Given the description of an element on the screen output the (x, y) to click on. 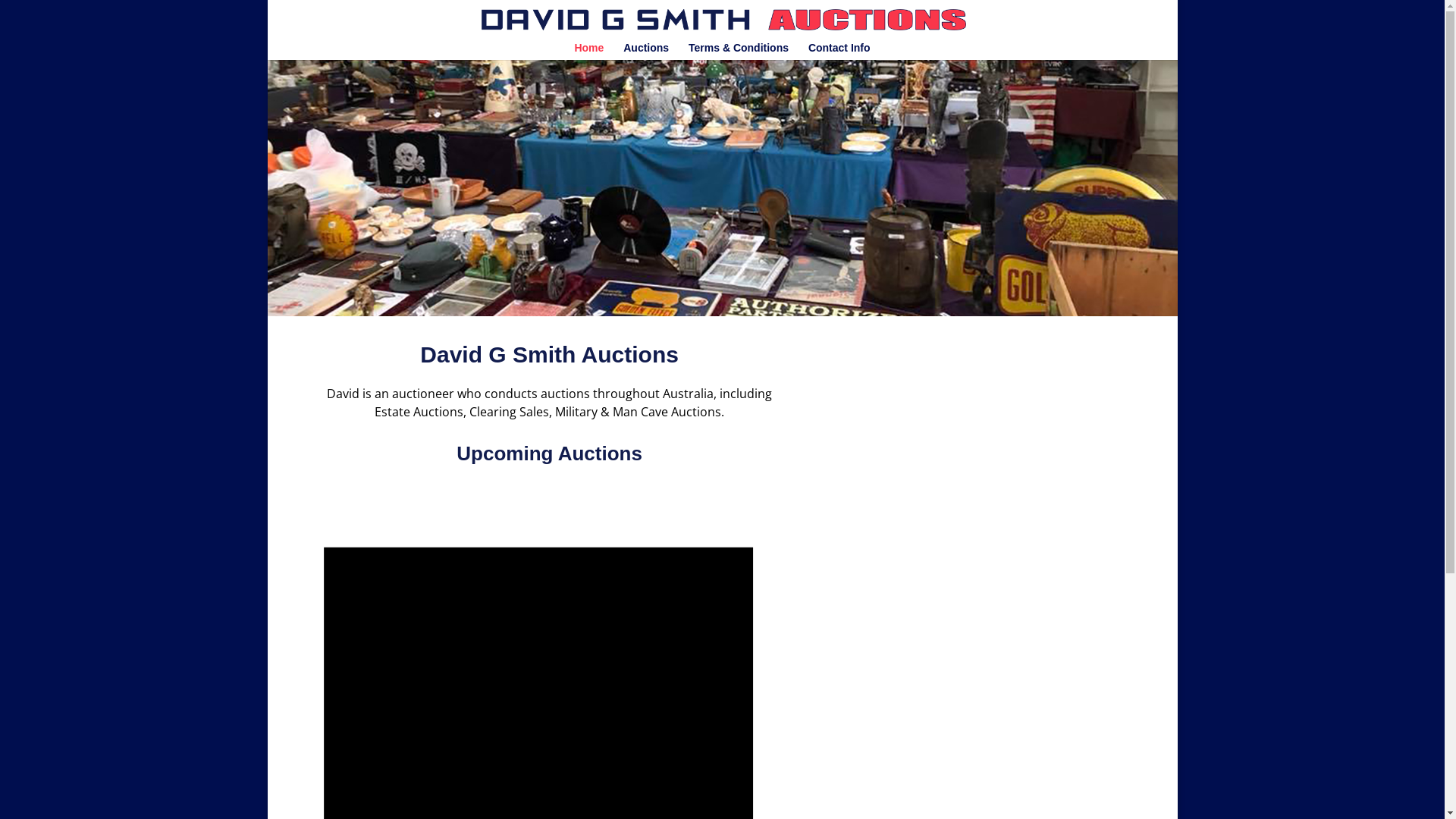
Home Element type: text (588, 50)
Terms & Conditions Element type: text (738, 50)
Auctions Element type: text (645, 50)
Contact Info Element type: text (839, 50)
